Given the description of an element on the screen output the (x, y) to click on. 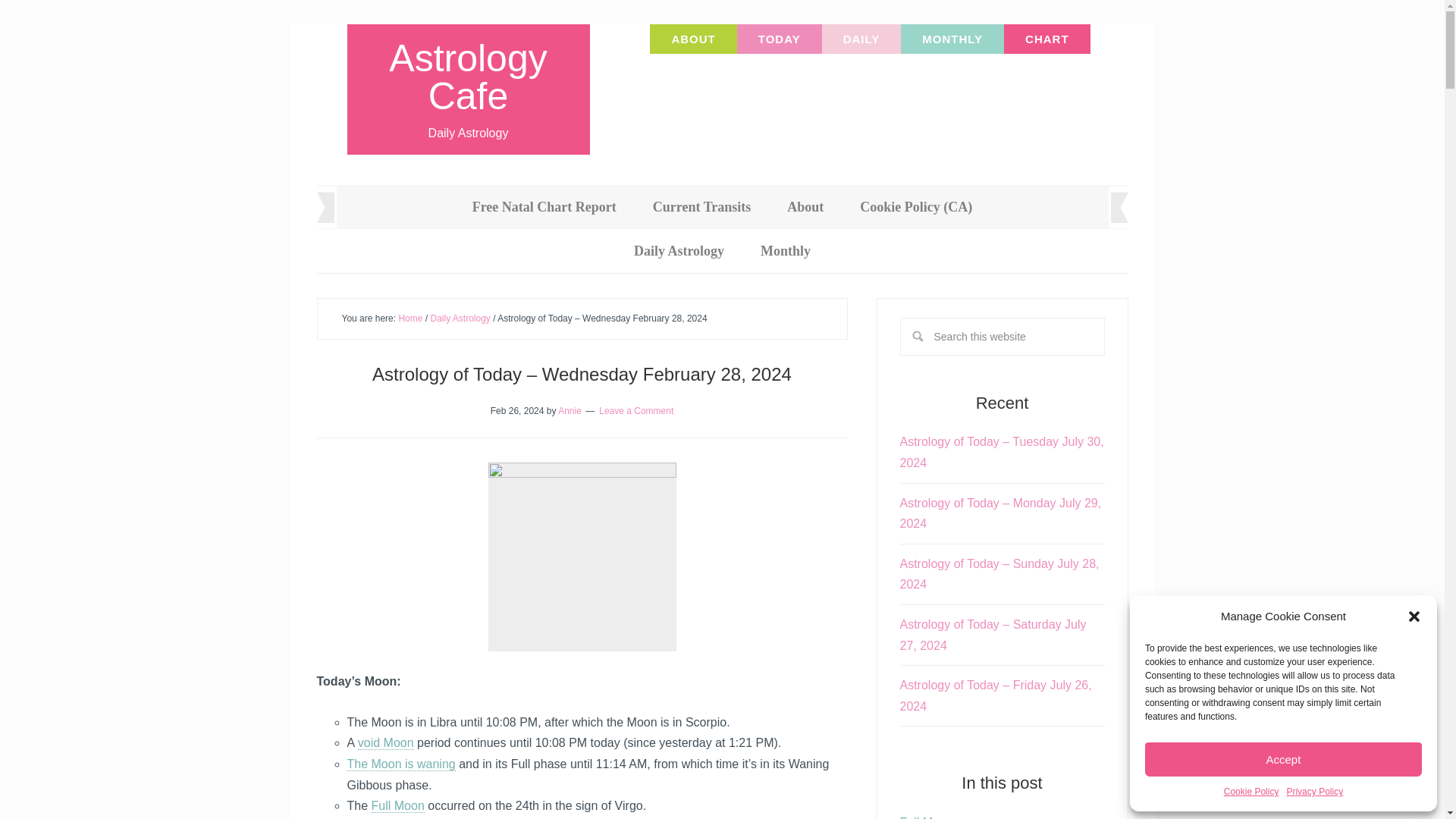
Accept (1283, 759)
Leave a Comment (635, 410)
About (804, 207)
Cookie Policy (1251, 791)
ABOUT (692, 39)
Free Natal Chart Report (544, 207)
Monthly (785, 250)
Home (409, 317)
Annie (568, 410)
MONTHLY (952, 39)
Daily Astrology (678, 250)
DAILY (861, 39)
CHART (1047, 39)
